Given the description of an element on the screen output the (x, y) to click on. 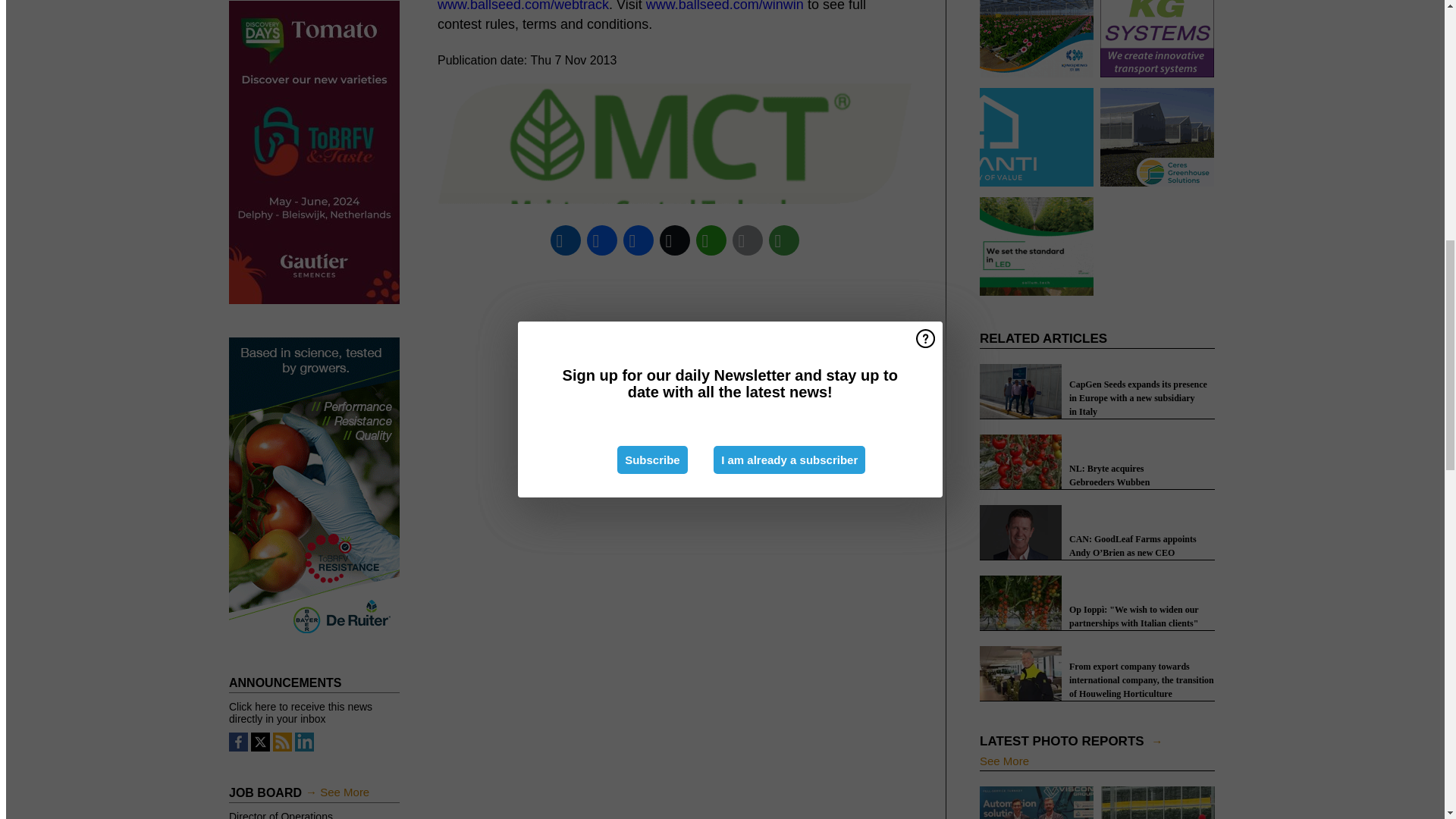
LinkedIn (565, 239)
Facebook (601, 239)
WhatsApp (711, 239)
More Options (783, 239)
Email This (747, 239)
Facebook Messenger (638, 239)
